Given the description of an element on the screen output the (x, y) to click on. 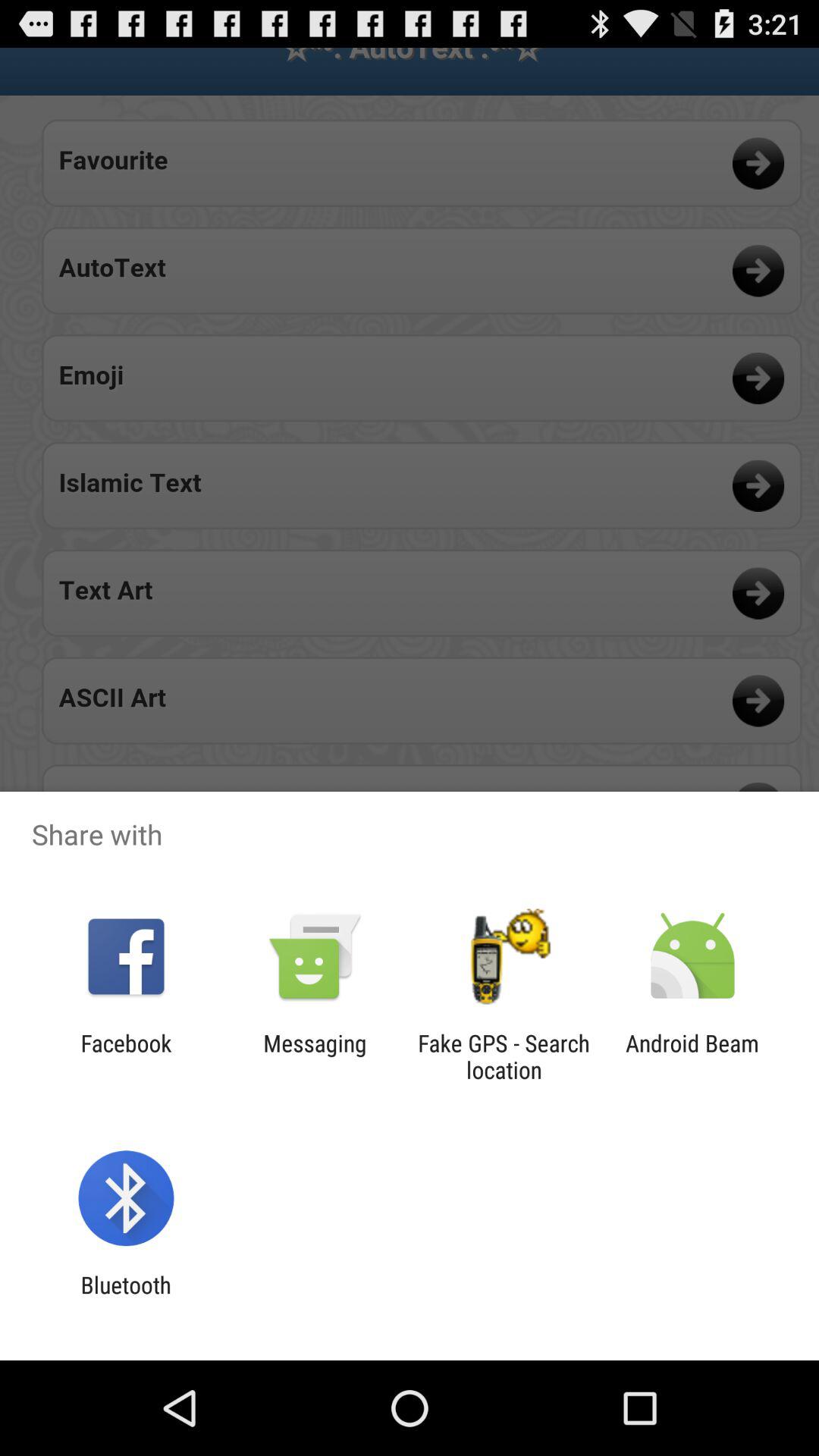
choose app to the right of facebook app (314, 1056)
